Given the description of an element on the screen output the (x, y) to click on. 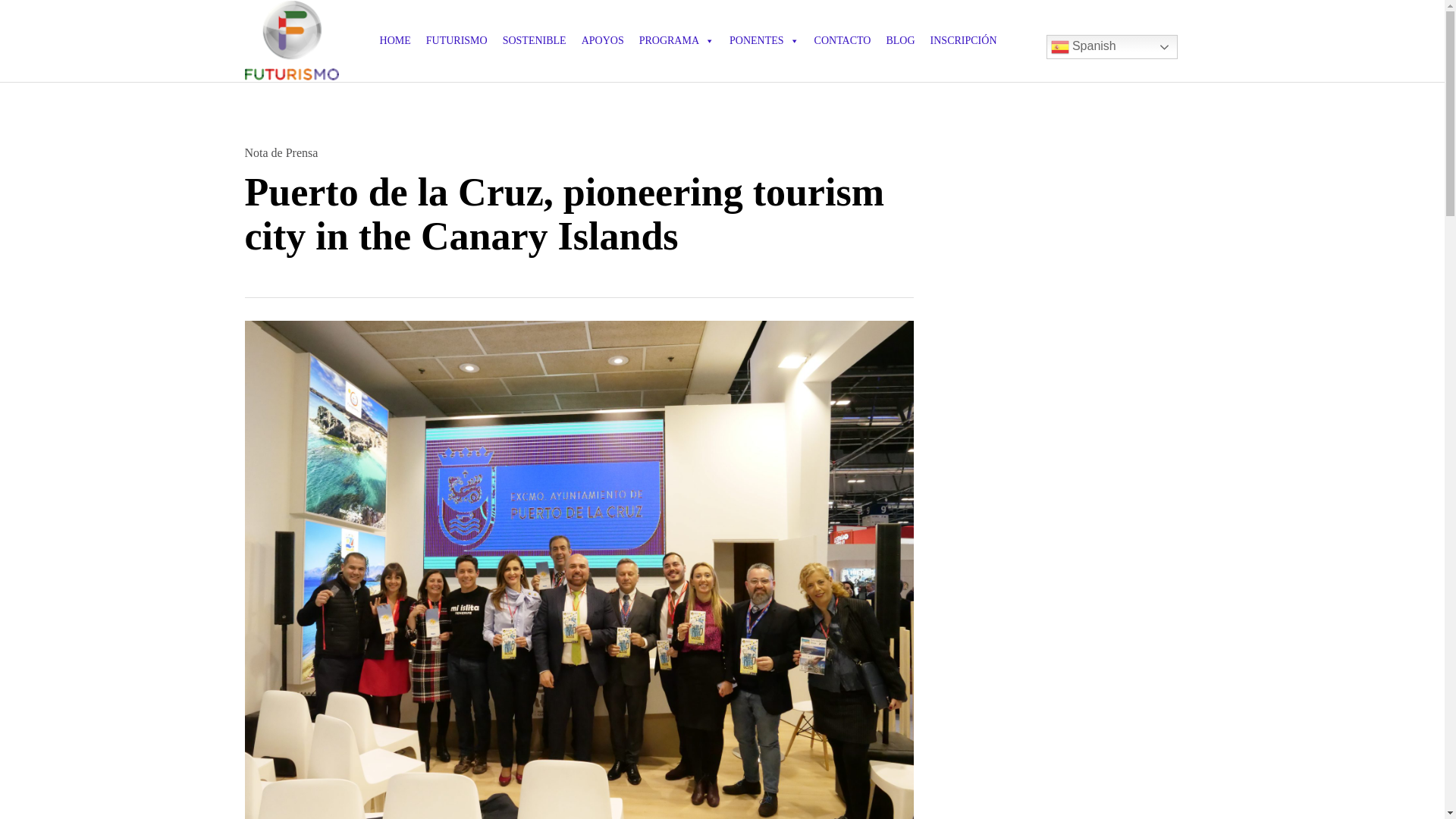
PONENTES (764, 40)
Futurismo Canarias (290, 40)
Spanish (1111, 46)
Nota de Prensa (280, 152)
SOSTENIBLE (534, 40)
PROGRAMA (675, 40)
APOYOS (602, 40)
CONTACTO (842, 40)
FUTURISMO (457, 40)
